Given the description of an element on the screen output the (x, y) to click on. 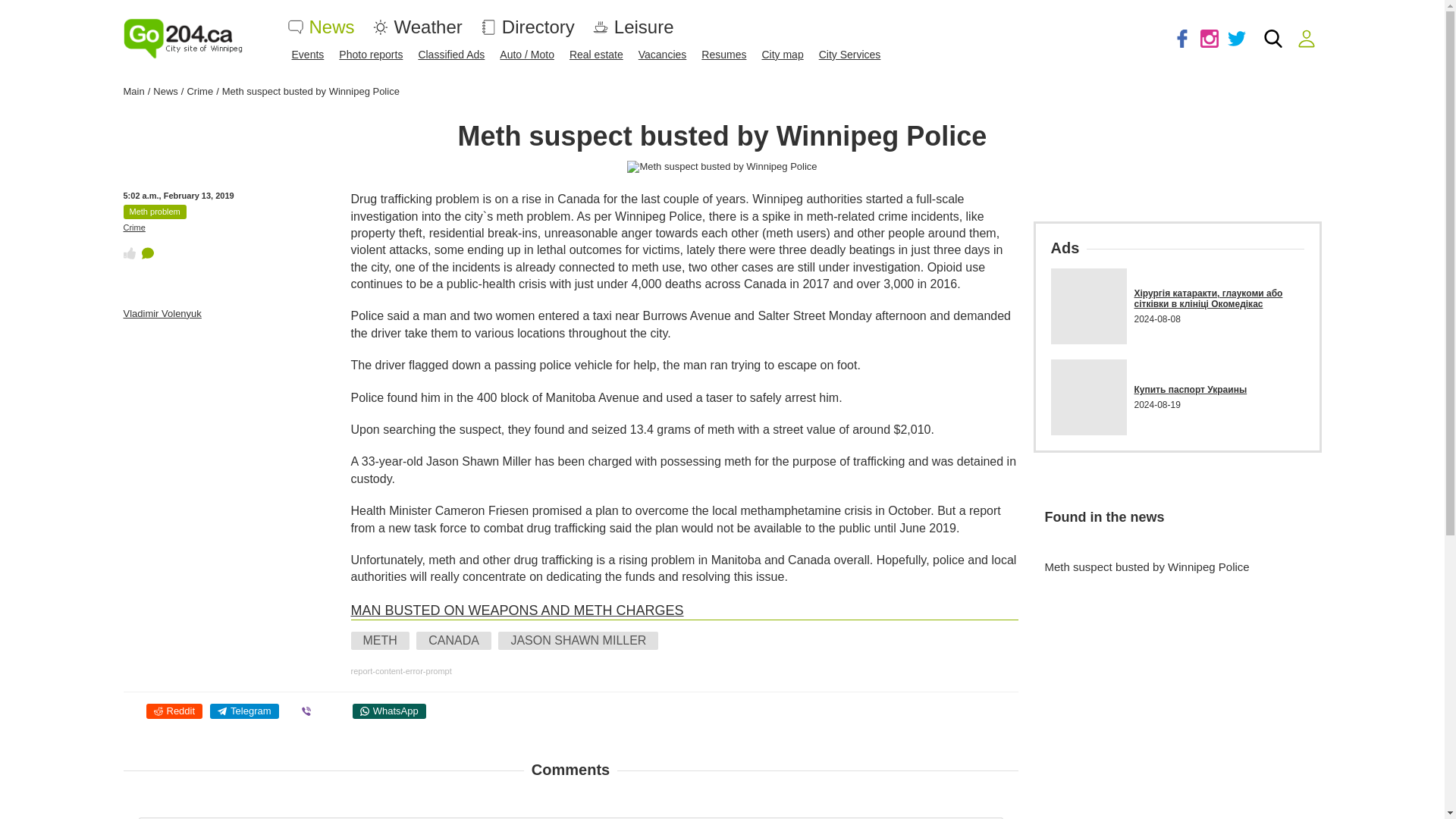
Share (243, 711)
Leisure (644, 26)
Resumes (723, 54)
I like (128, 253)
Photo reports (371, 54)
Classified Ads (450, 54)
City map (782, 54)
City Services (849, 54)
News (331, 26)
Share (173, 711)
